Given the description of an element on the screen output the (x, y) to click on. 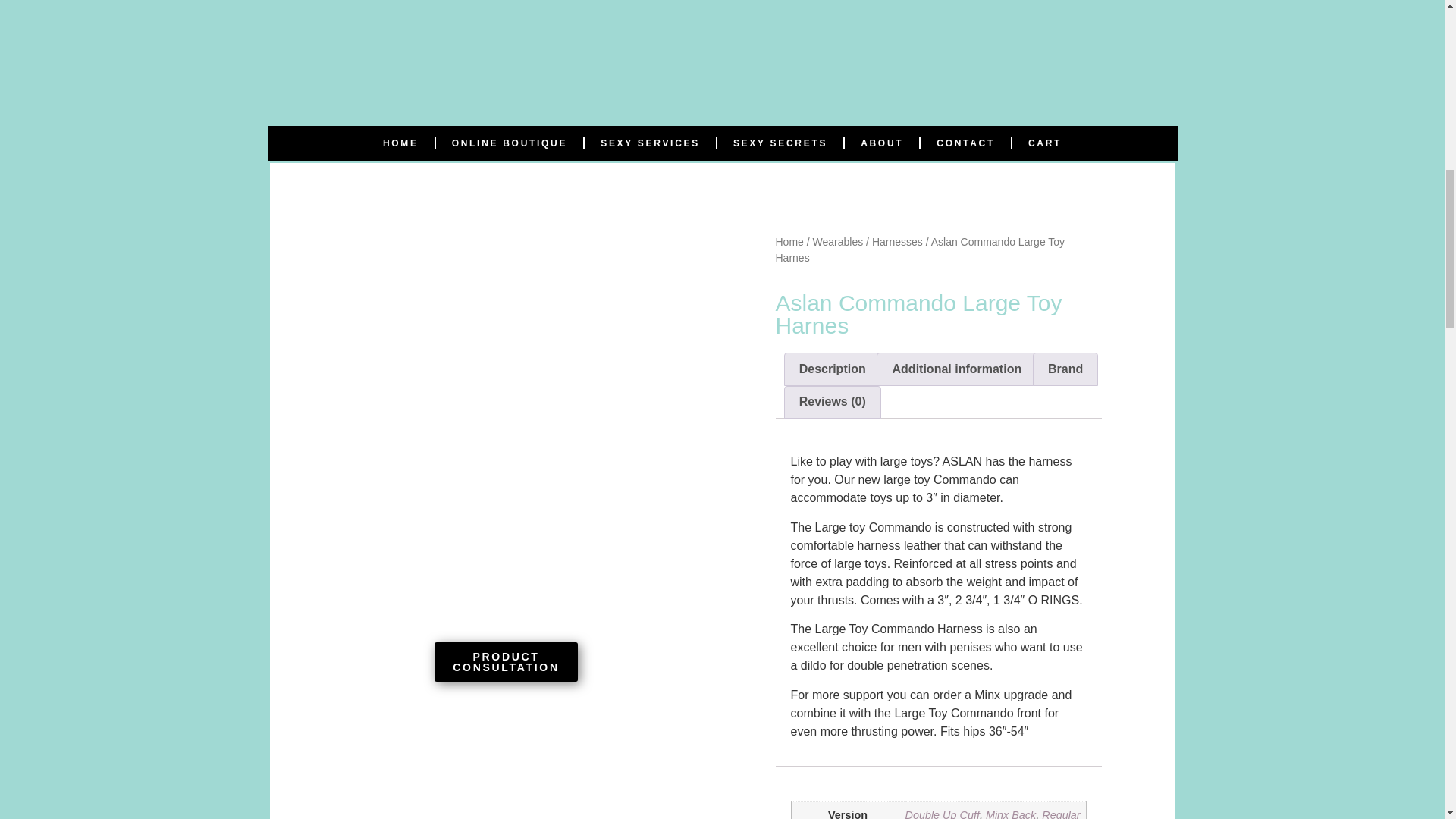
HOME (399, 143)
ONLINE BOUTIQUE (509, 143)
